Given the description of an element on the screen output the (x, y) to click on. 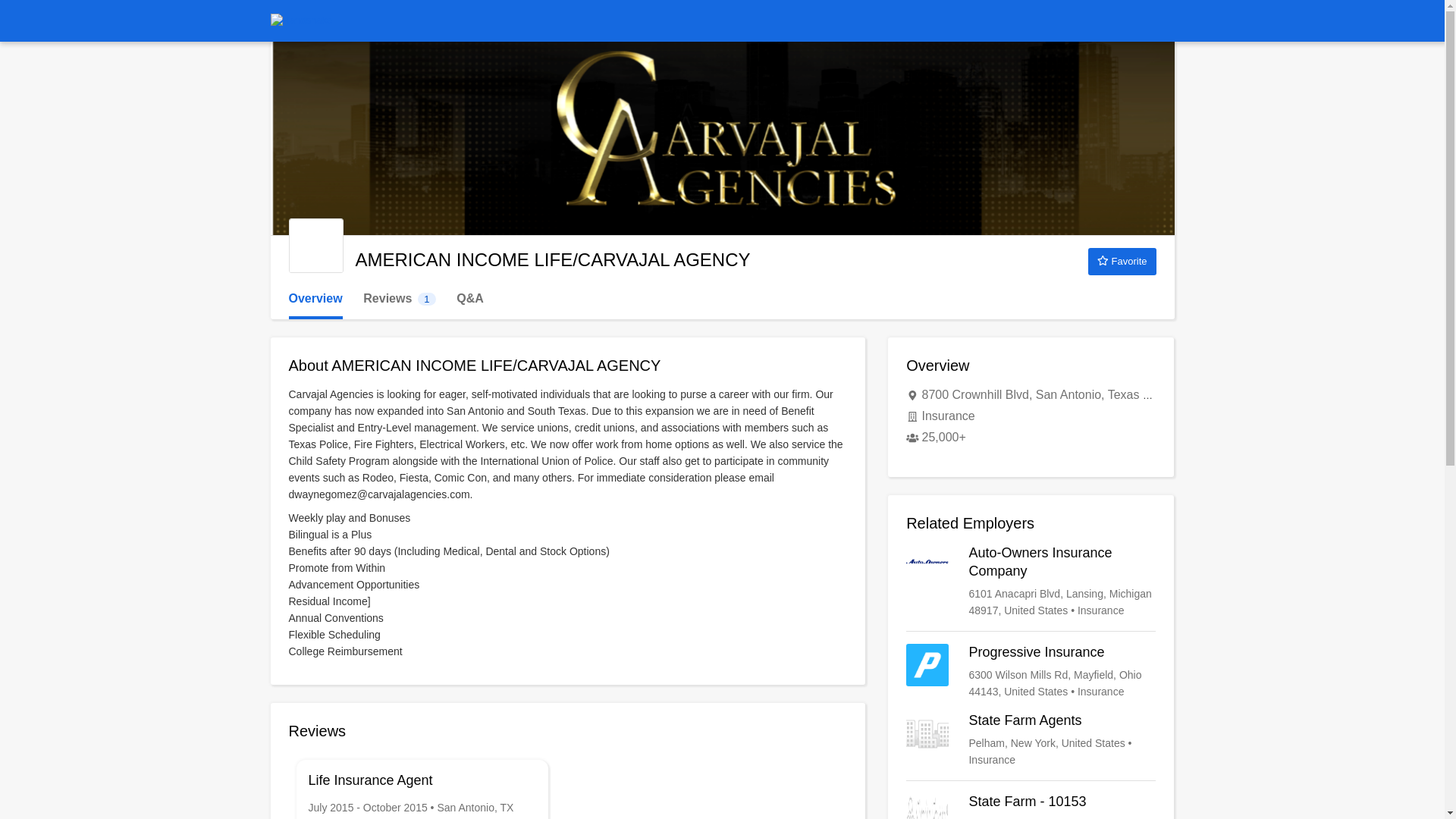
Progressive Insurance (1030, 671)
Overview (315, 298)
Auto-Owners Insurance Company (1030, 581)
Favorite (398, 298)
State Farm Agents (1121, 261)
State Farm - 10153 (1030, 739)
